Given the description of an element on the screen output the (x, y) to click on. 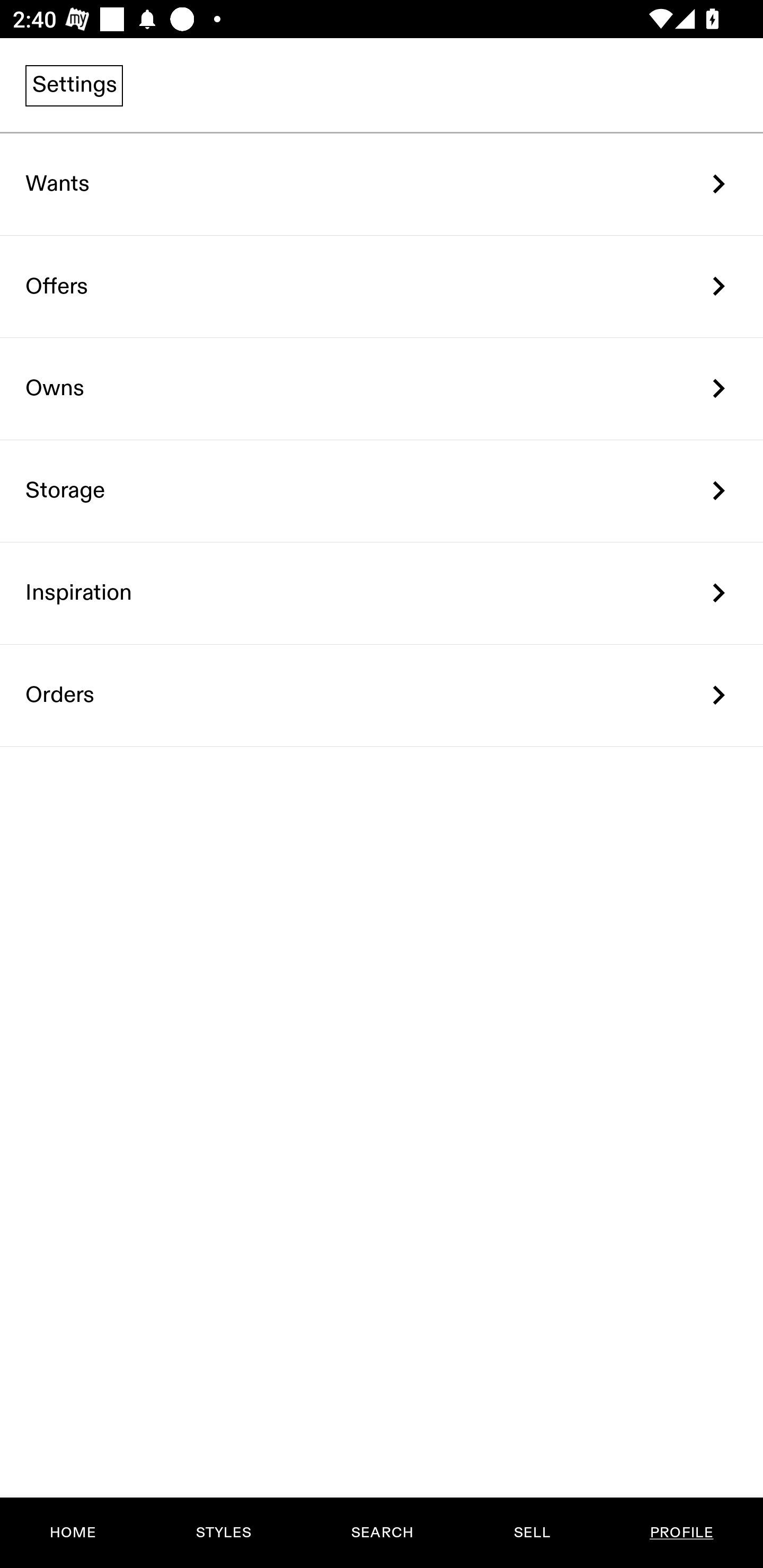
Settings (73, 85)
Wants (381, 184)
Offers (381, 286)
Owns (381, 388)
Storage (381, 491)
Inspiration (381, 593)
Orders (381, 695)
HOME (72, 1532)
STYLES (222, 1532)
SEARCH (381, 1532)
SELL (531, 1532)
PROFILE (681, 1532)
